Given the description of an element on the screen output the (x, y) to click on. 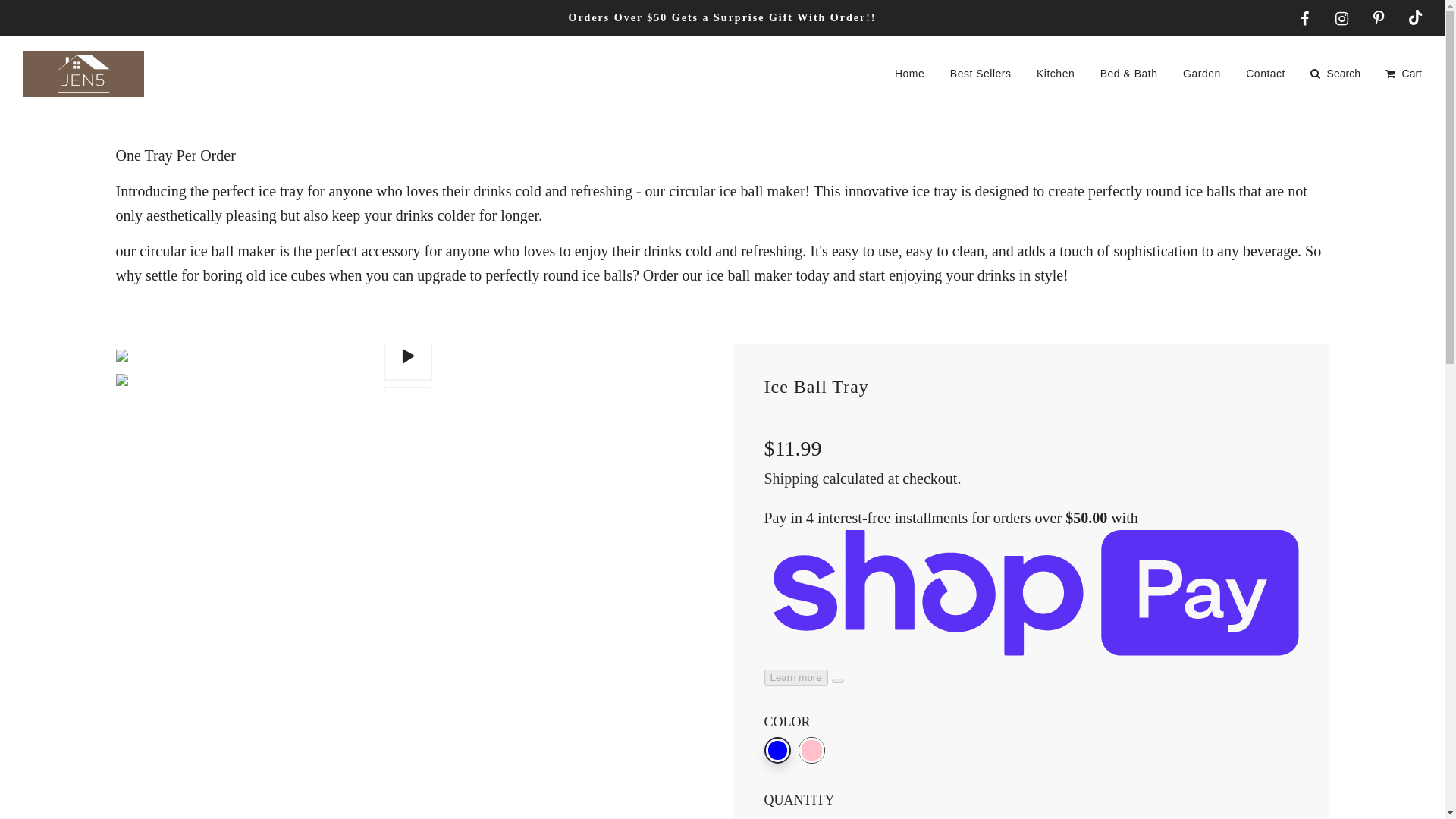
Kitchen (1055, 73)
Shipping (791, 479)
Garden (1201, 73)
Cart (1401, 73)
Search (1334, 73)
Home (909, 73)
Best Sellers (981, 73)
Contact (1265, 73)
